Given the description of an element on the screen output the (x, y) to click on. 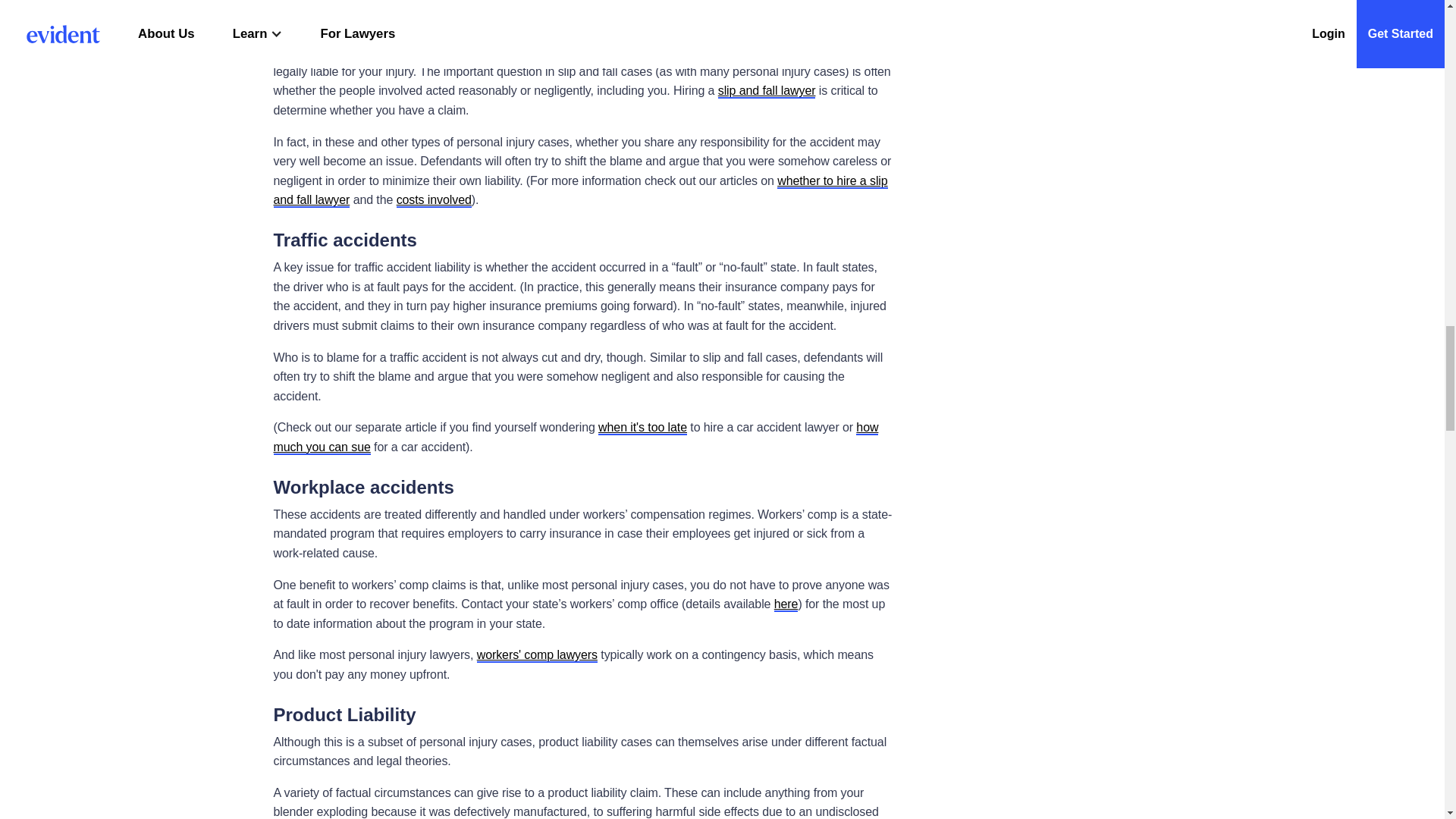
when it's too late (642, 427)
workers' comp lawyers (536, 655)
costs involved (433, 200)
whether to hire a slip and fall lawyer (579, 191)
how much you can sue (575, 437)
slip and fall lawyer (766, 91)
here (785, 604)
